Given the description of an element on the screen output the (x, y) to click on. 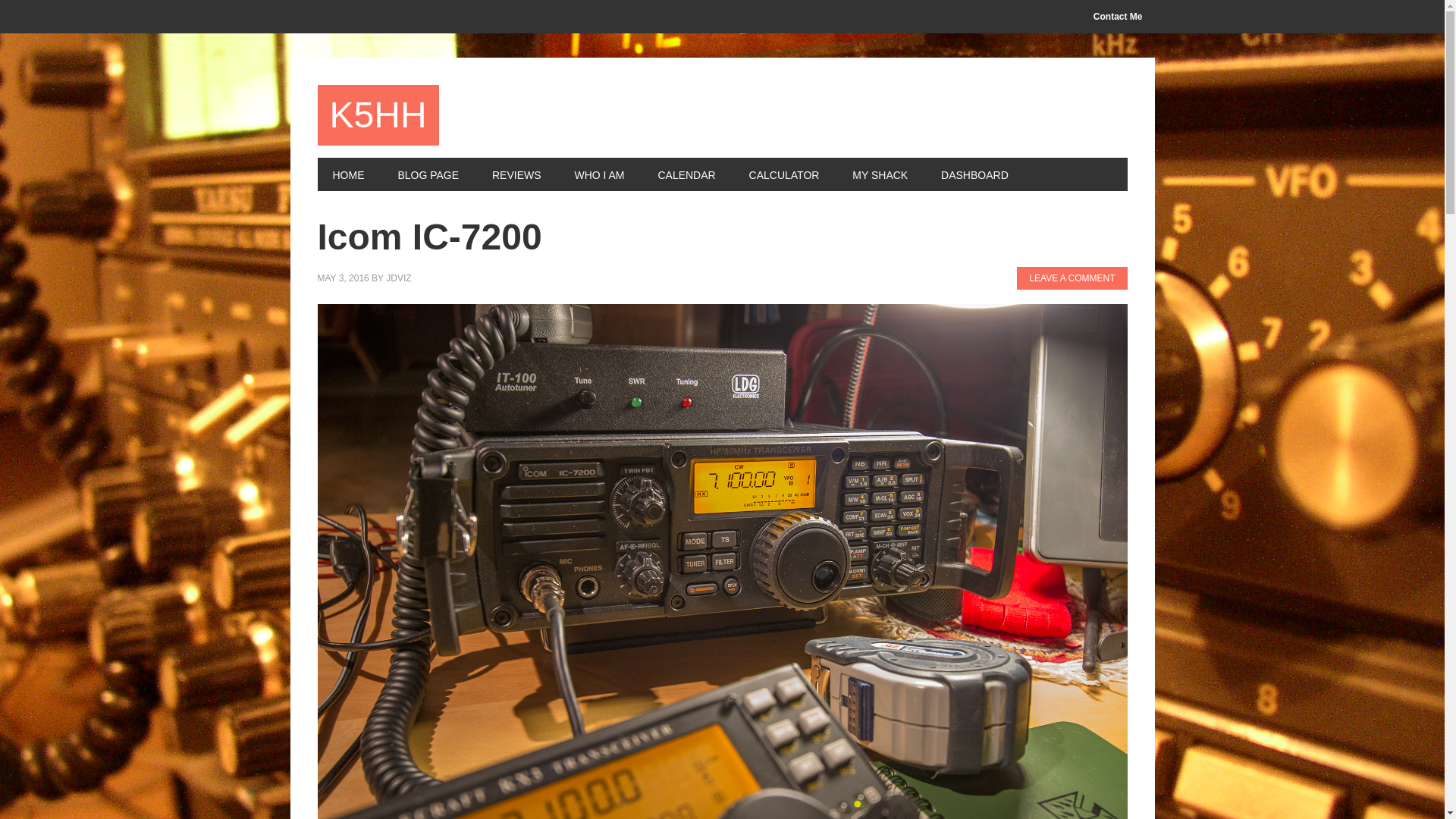
HOME (347, 174)
CALENDAR (686, 174)
Contact Me (1117, 16)
Icom IC-7200 (429, 237)
CALCULATOR (783, 174)
MY SHACK (880, 174)
BLOG PAGE (427, 174)
LEAVE A COMMENT (1071, 277)
K5HH (377, 115)
WHO I AM (599, 174)
REVIEWS (516, 174)
DASHBOARD (974, 174)
JDVIZ (397, 277)
